Given the description of an element on the screen output the (x, y) to click on. 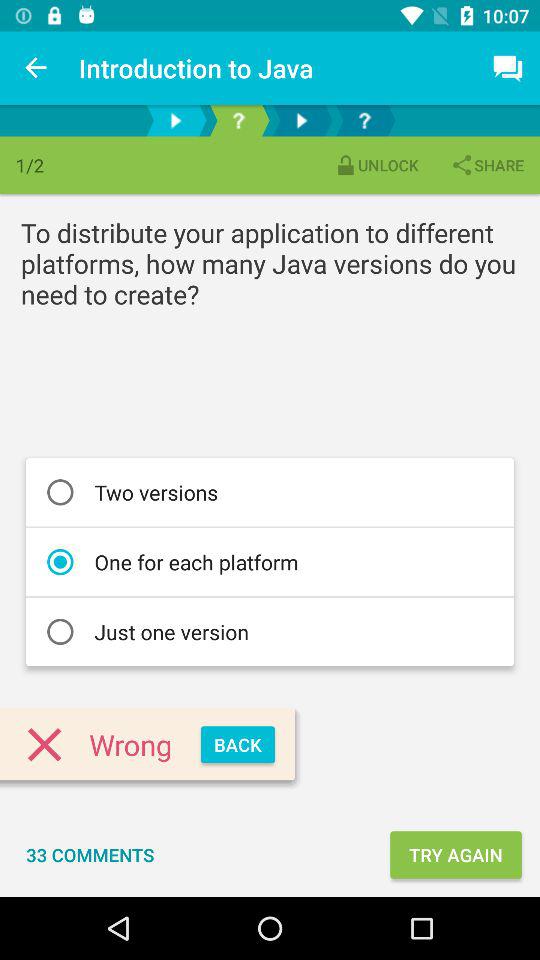
turn on the icon next to 33 comments item (455, 854)
